Given the description of an element on the screen output the (x, y) to click on. 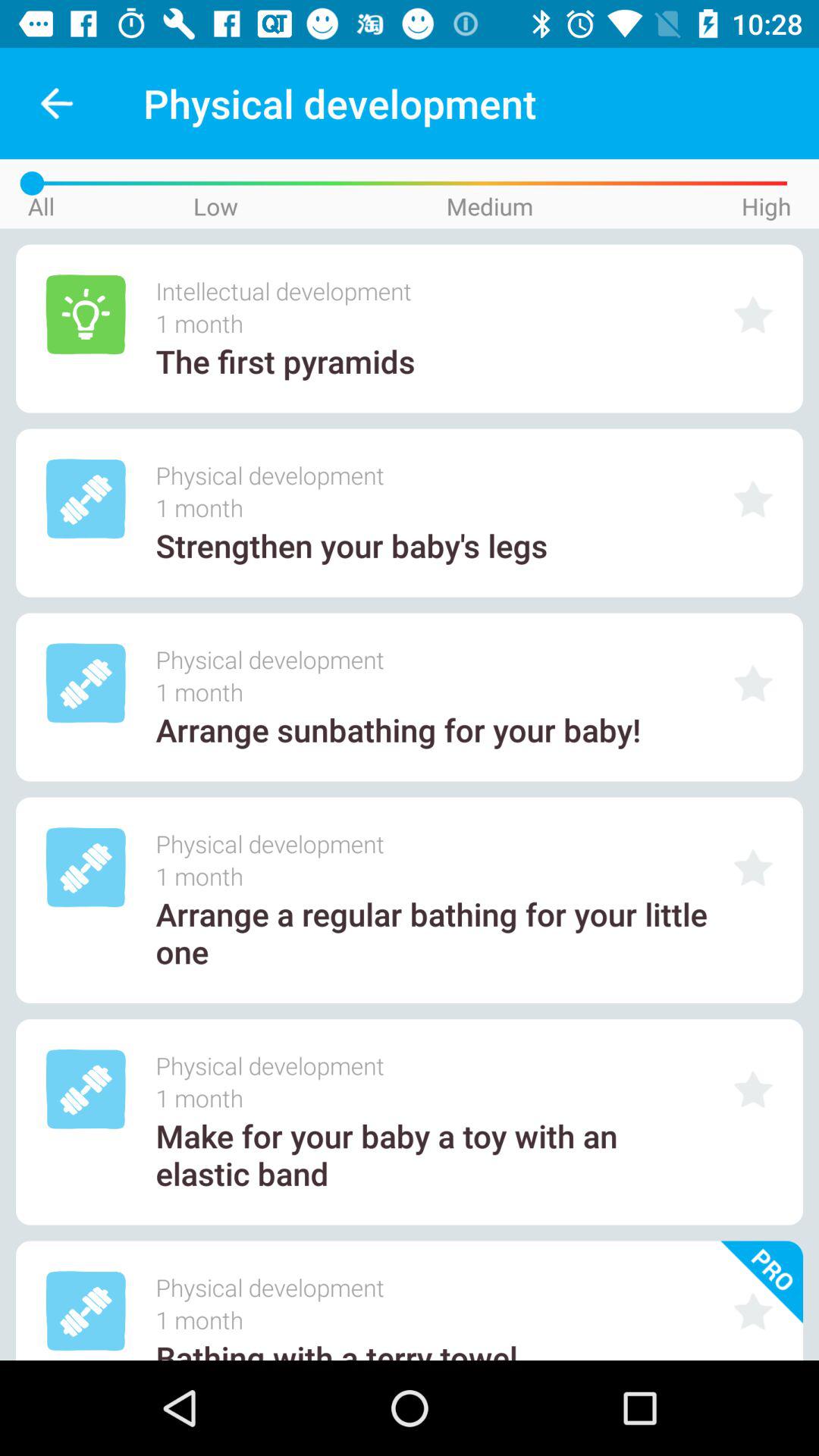
go to setting (753, 1089)
